Given the description of an element on the screen output the (x, y) to click on. 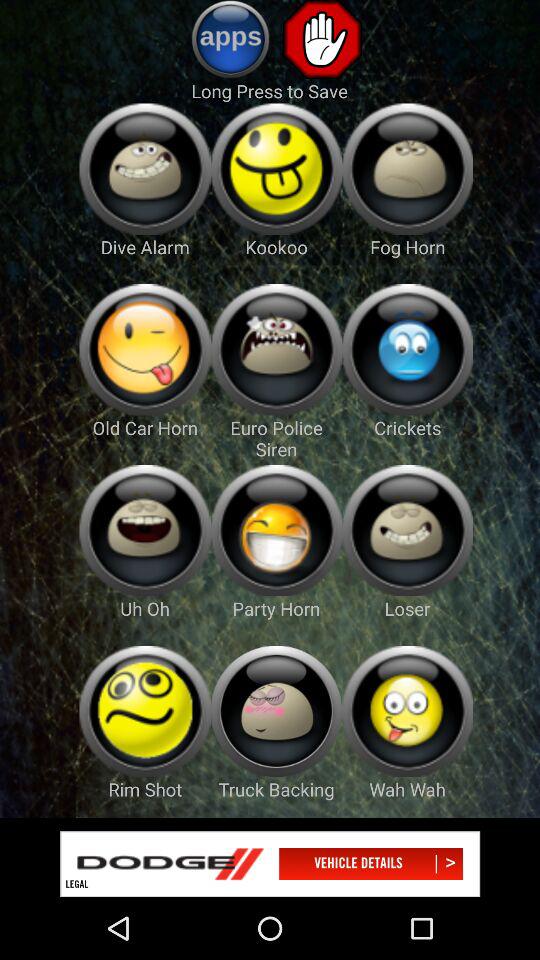
games page (144, 530)
